Given the description of an element on the screen output the (x, y) to click on. 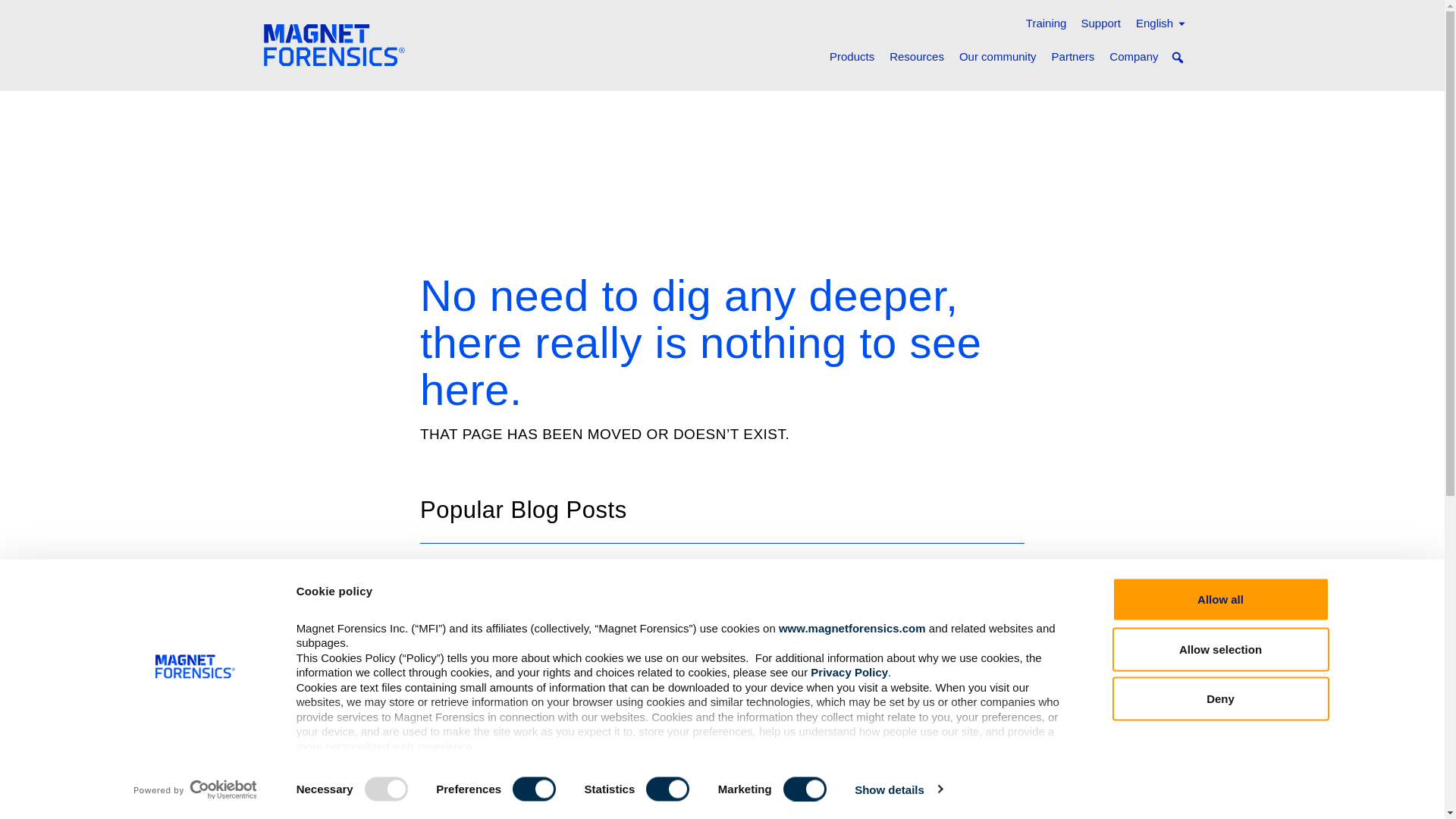
Privacy Policy (849, 671)
www.magnetforensics.com (852, 626)
Show details (898, 789)
